Given the description of an element on the screen output the (x, y) to click on. 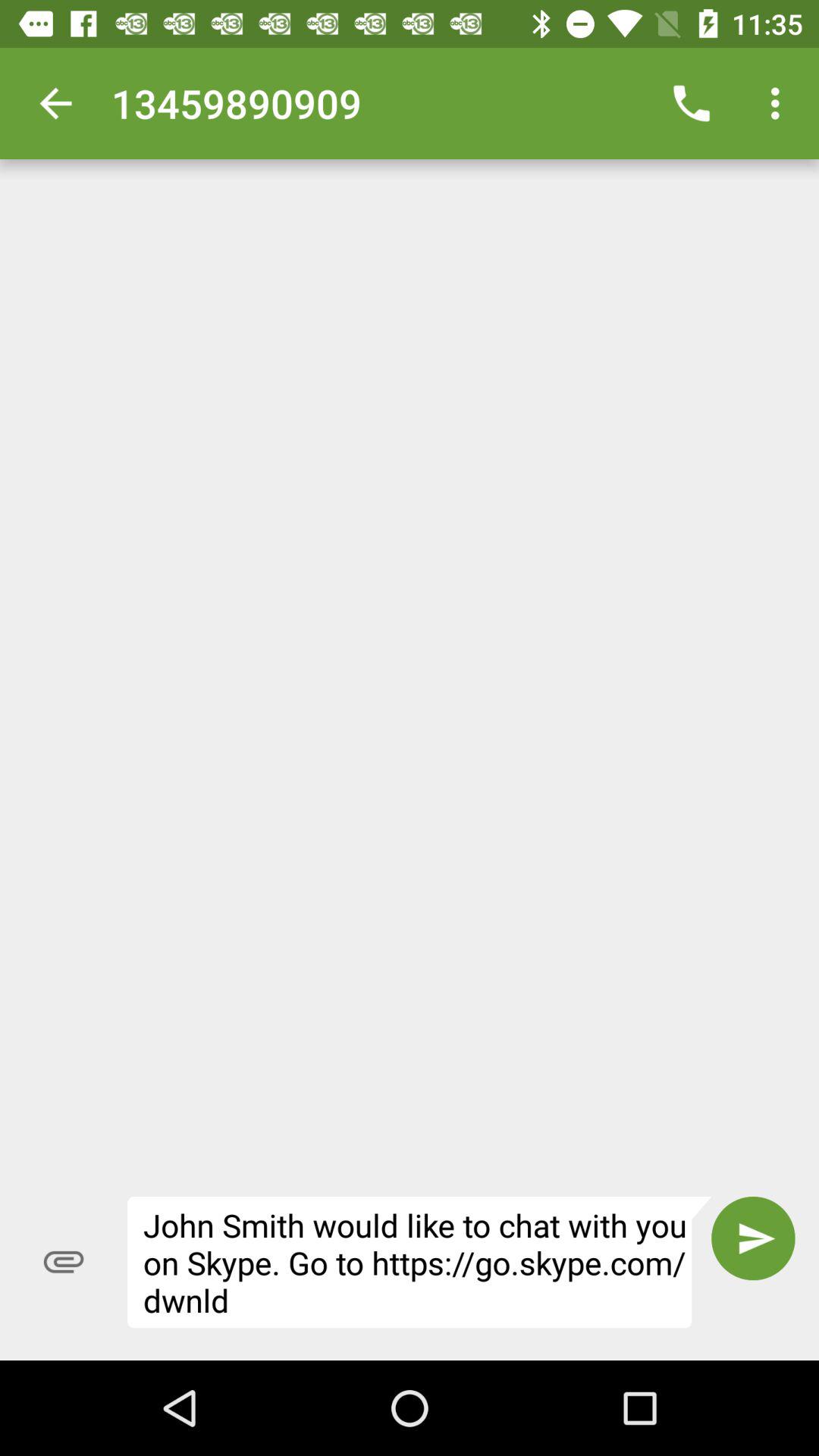
select the item next to the 13459890909 icon (691, 103)
